Given the description of an element on the screen output the (x, y) to click on. 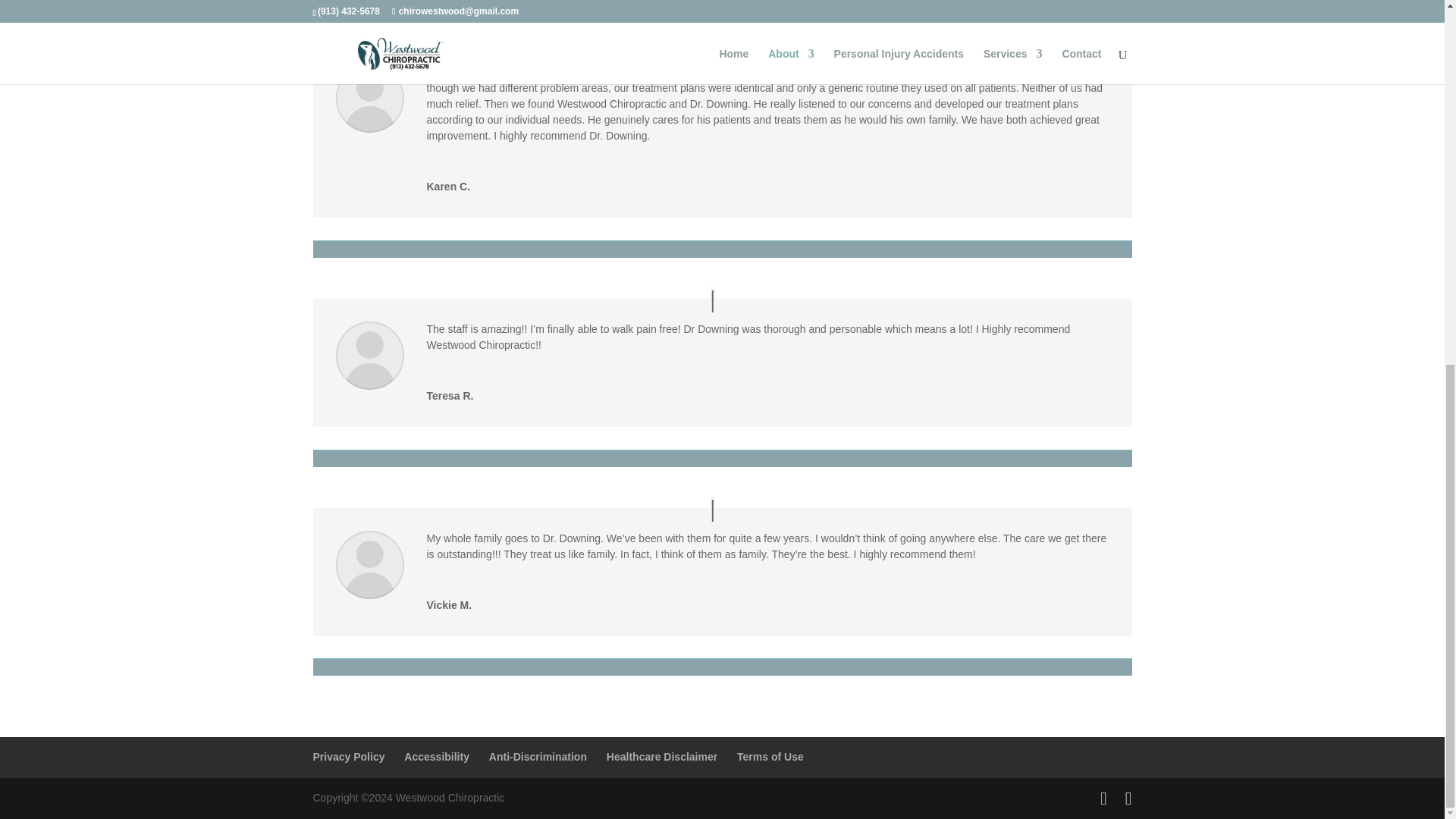
Privacy Policy (348, 756)
Healthcare Disclaimer (662, 756)
Accessibility (436, 756)
Terms of Use (769, 756)
Anti-Discrimination (537, 756)
